Given the description of an element on the screen output the (x, y) to click on. 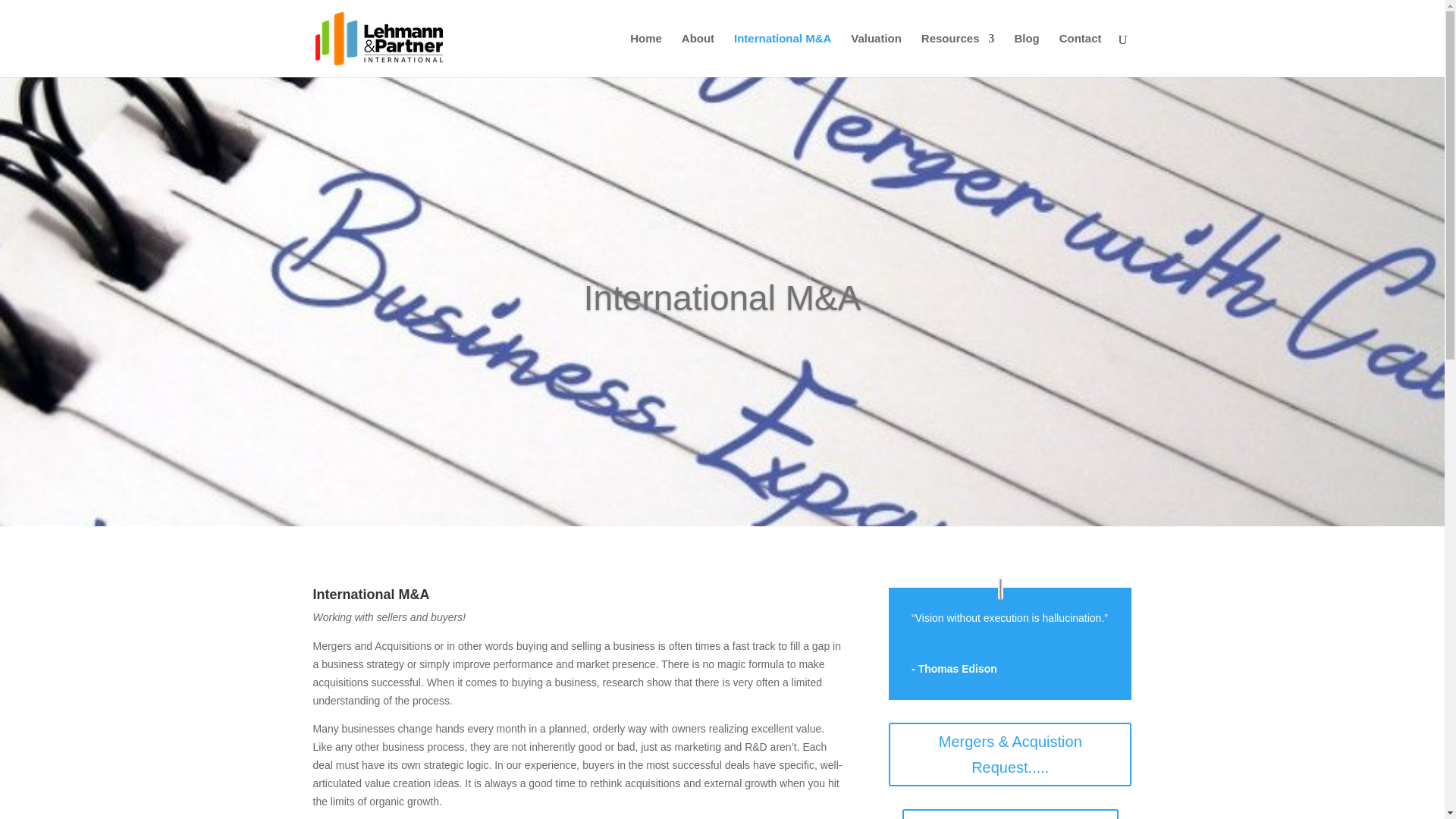
Blog (1026, 54)
Home (646, 54)
Contact (1080, 54)
Valuation (875, 54)
Exit Strategy Prep Form..... (1010, 814)
About (697, 54)
Resources (957, 54)
